Given the description of an element on the screen output the (x, y) to click on. 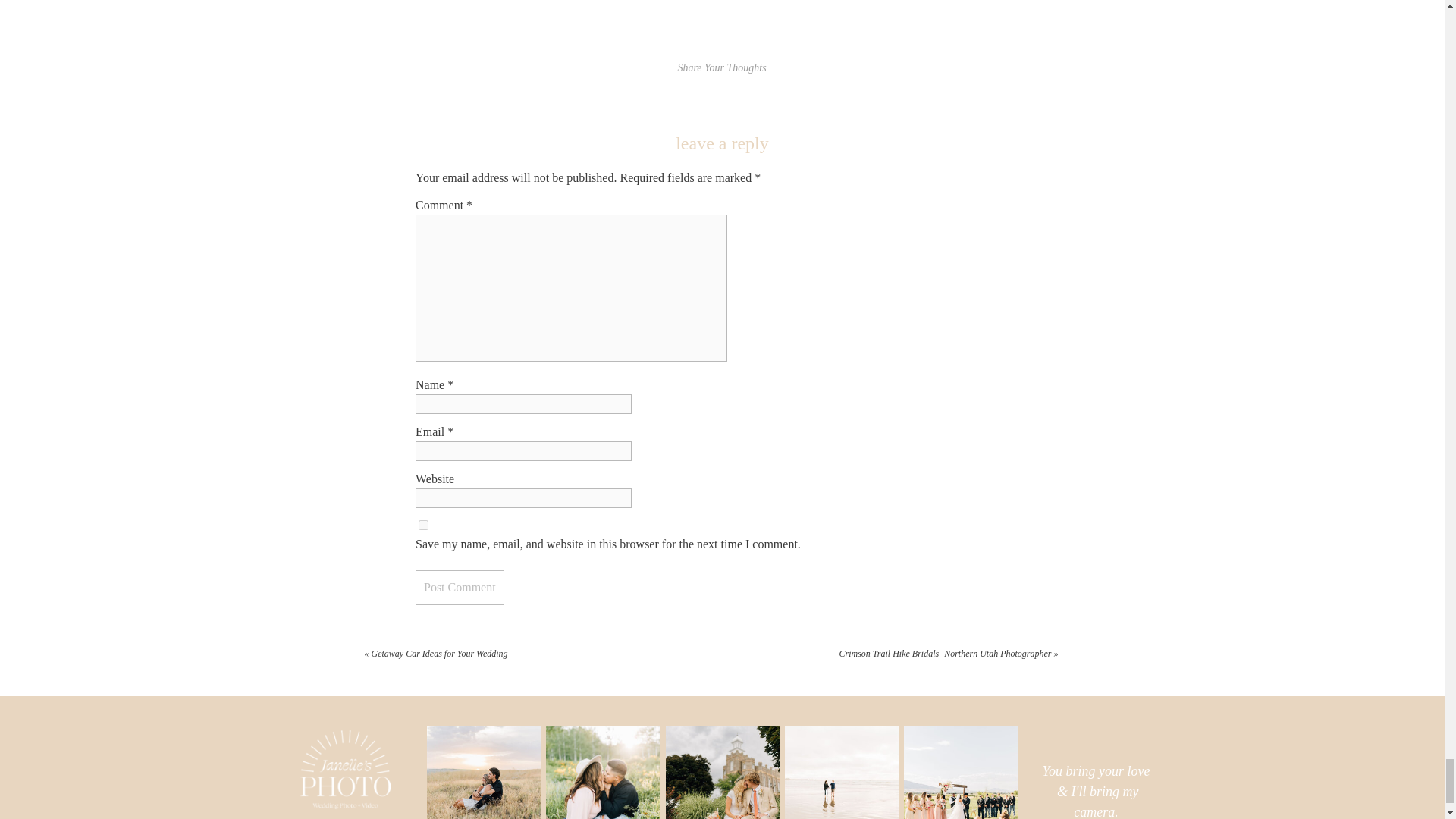
Post Comment (458, 587)
Post Comment (458, 587)
Crimson Trail Hike Bridals- Northern Utah Photographer (944, 653)
yes (423, 524)
Getaway Car Ideas for Your Wedding (439, 653)
Share Your Thoughts (721, 67)
